Given the description of an element on the screen output the (x, y) to click on. 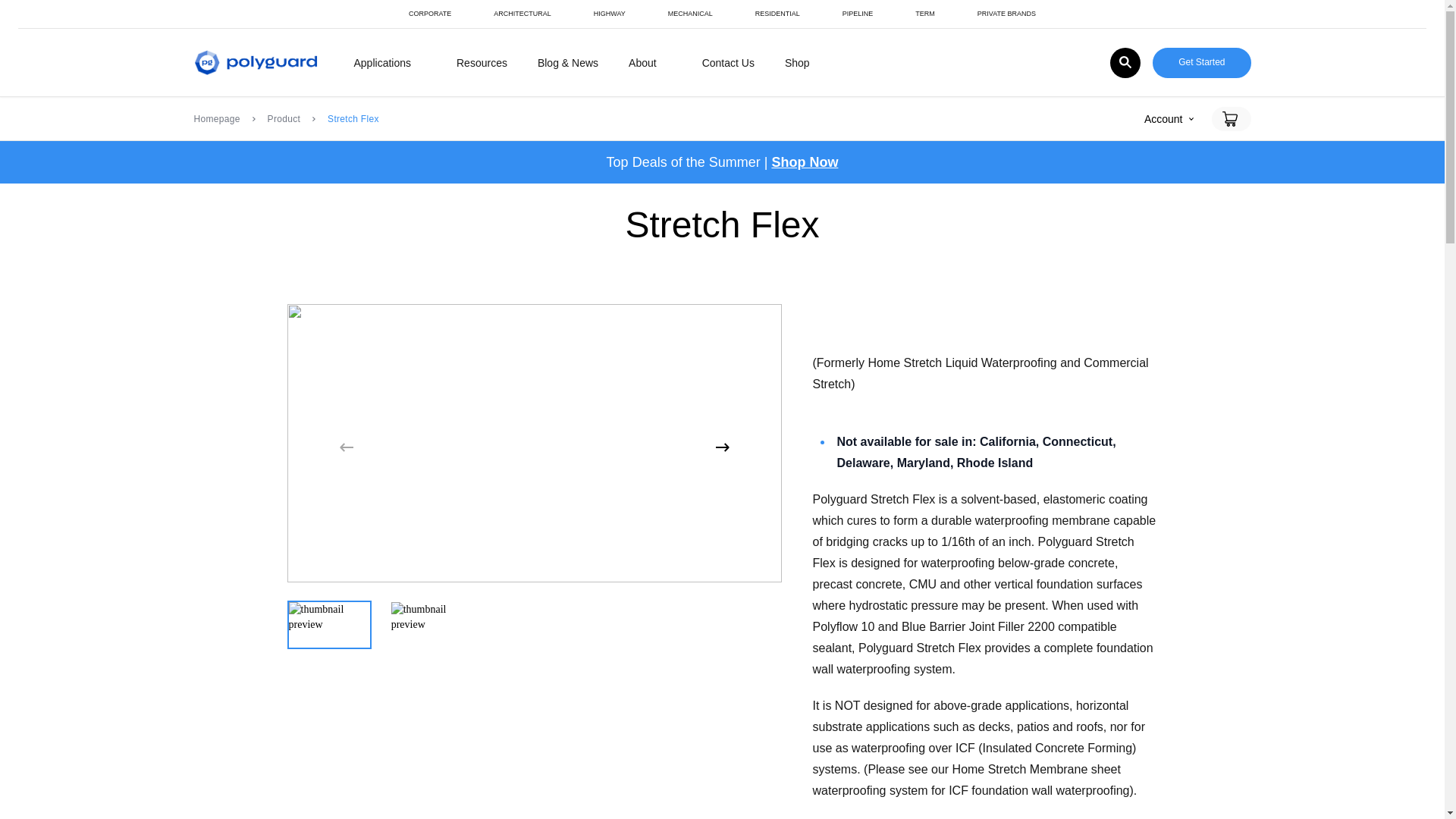
MECHANICAL (690, 13)
ARCHITECTURAL (522, 13)
Applications (381, 62)
HIGHWAY (609, 13)
CORPORATE (429, 13)
TERM (924, 13)
RESIDENTIAL (777, 13)
PIPELINE (857, 13)
PRIVATE BRANDS (1006, 13)
